Given the description of an element on the screen output the (x, y) to click on. 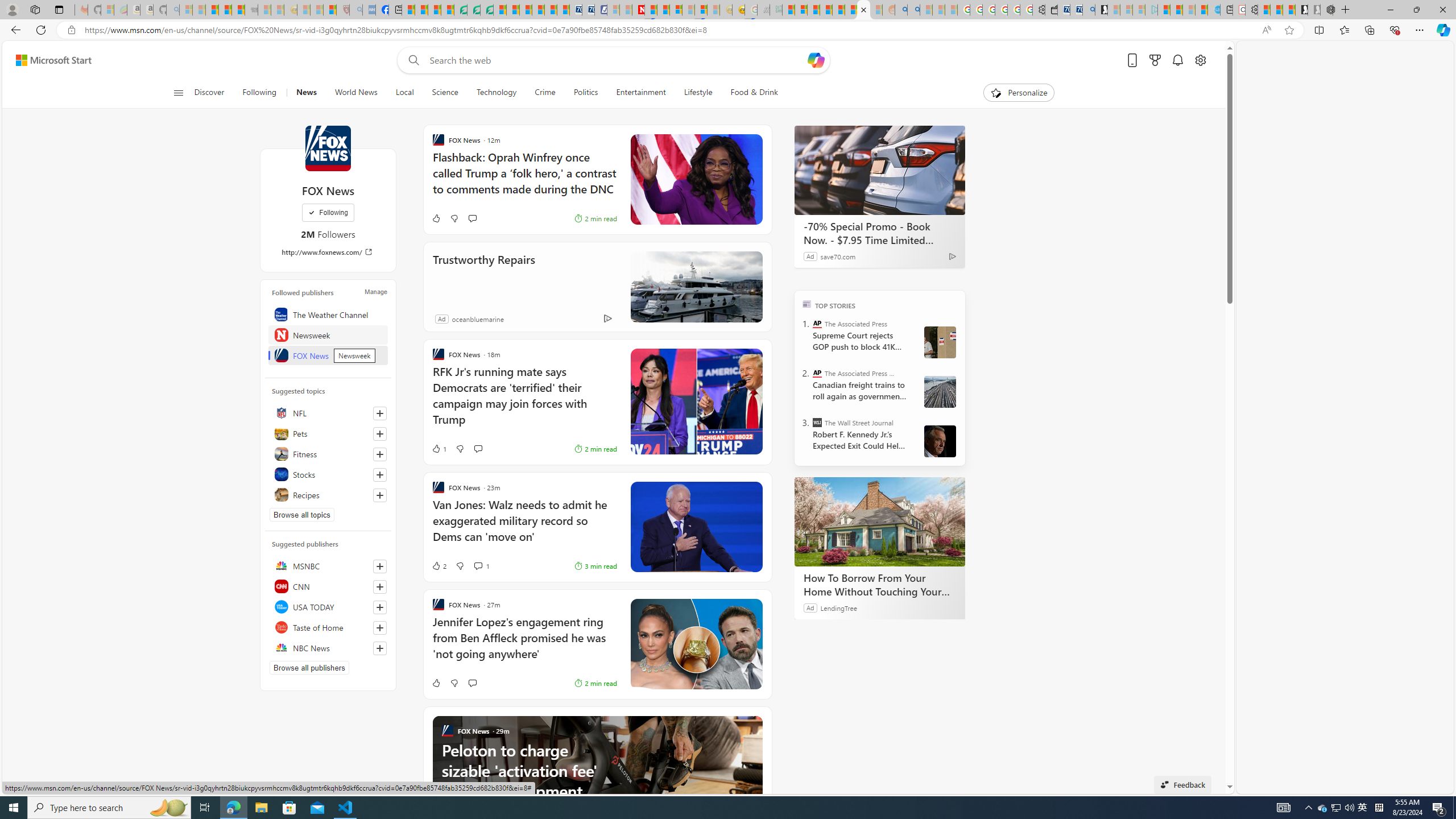
New Report Confirms 2023 Was Record Hot | Watch (237, 9)
